Given the description of an element on the screen output the (x, y) to click on. 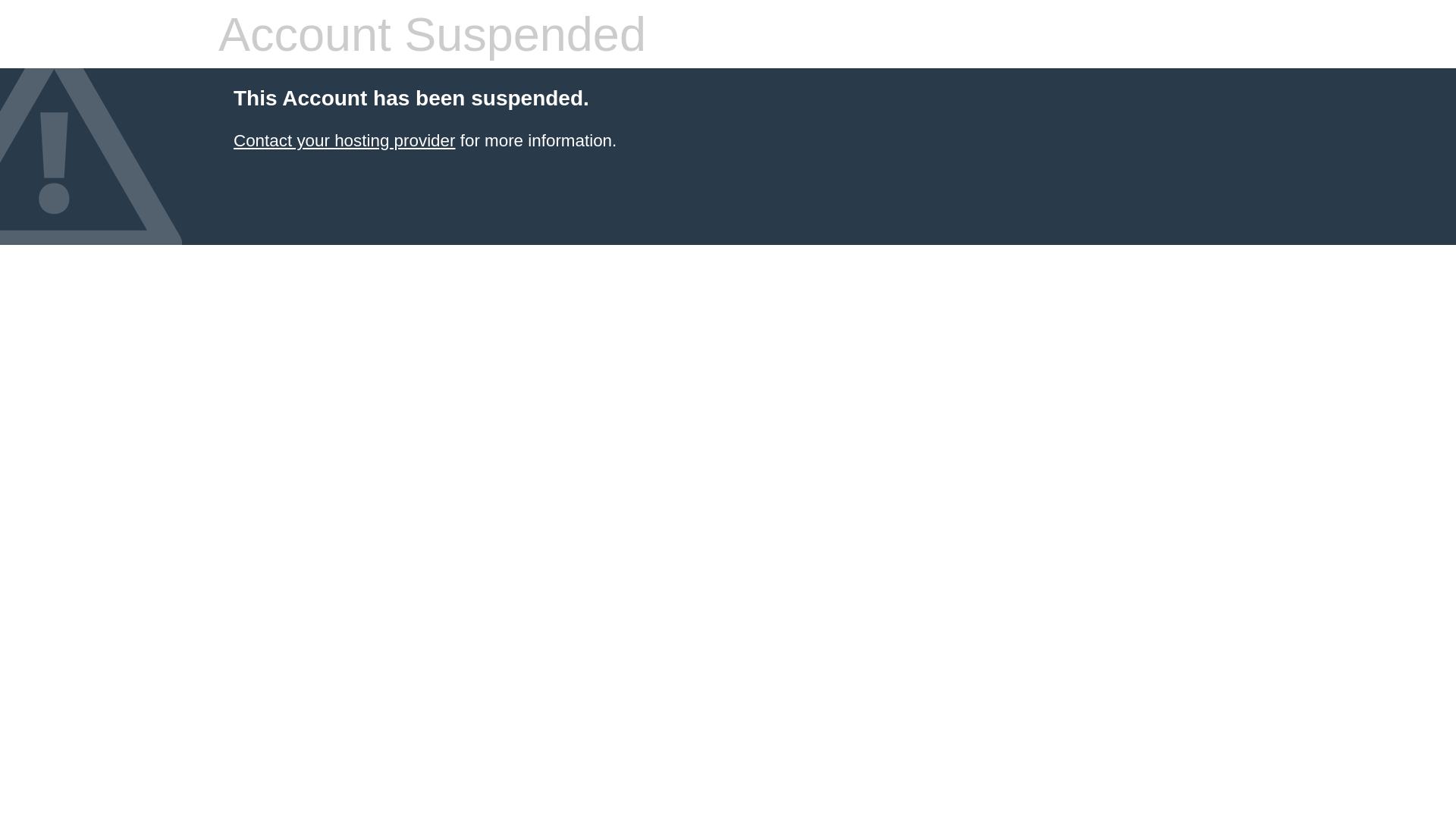
Contact your hosting provider Element type: text (344, 140)
